Given the description of an element on the screen output the (x, y) to click on. 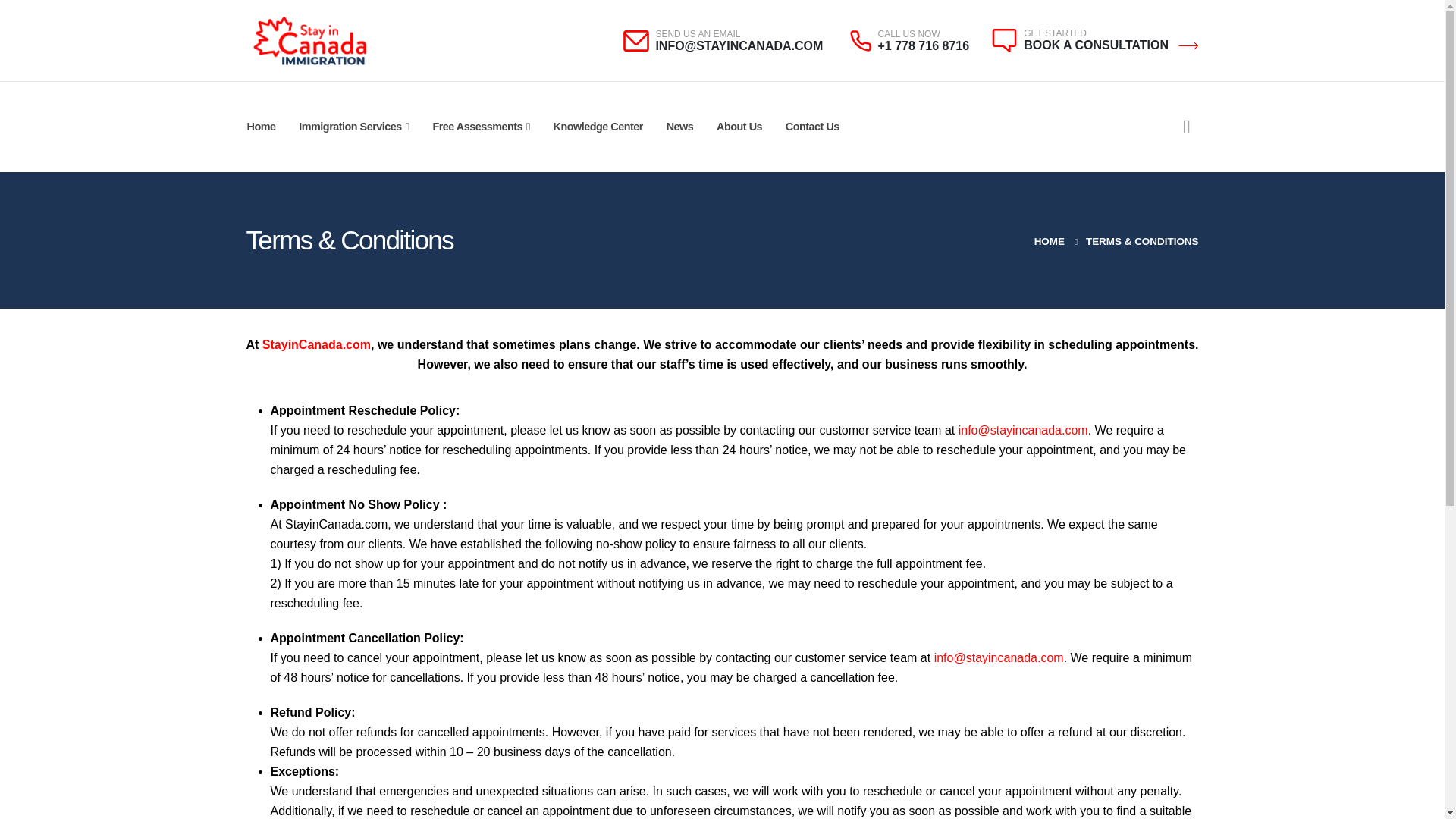
Free Assessments (481, 126)
News (679, 126)
StayInCanada Immigration -  (310, 40)
BOOK A CONSULTATION (1110, 44)
Knowledge Center (597, 126)
About Us (740, 126)
Immigration Services (354, 126)
Go to Home Page (1048, 241)
